Given the description of an element on the screen output the (x, y) to click on. 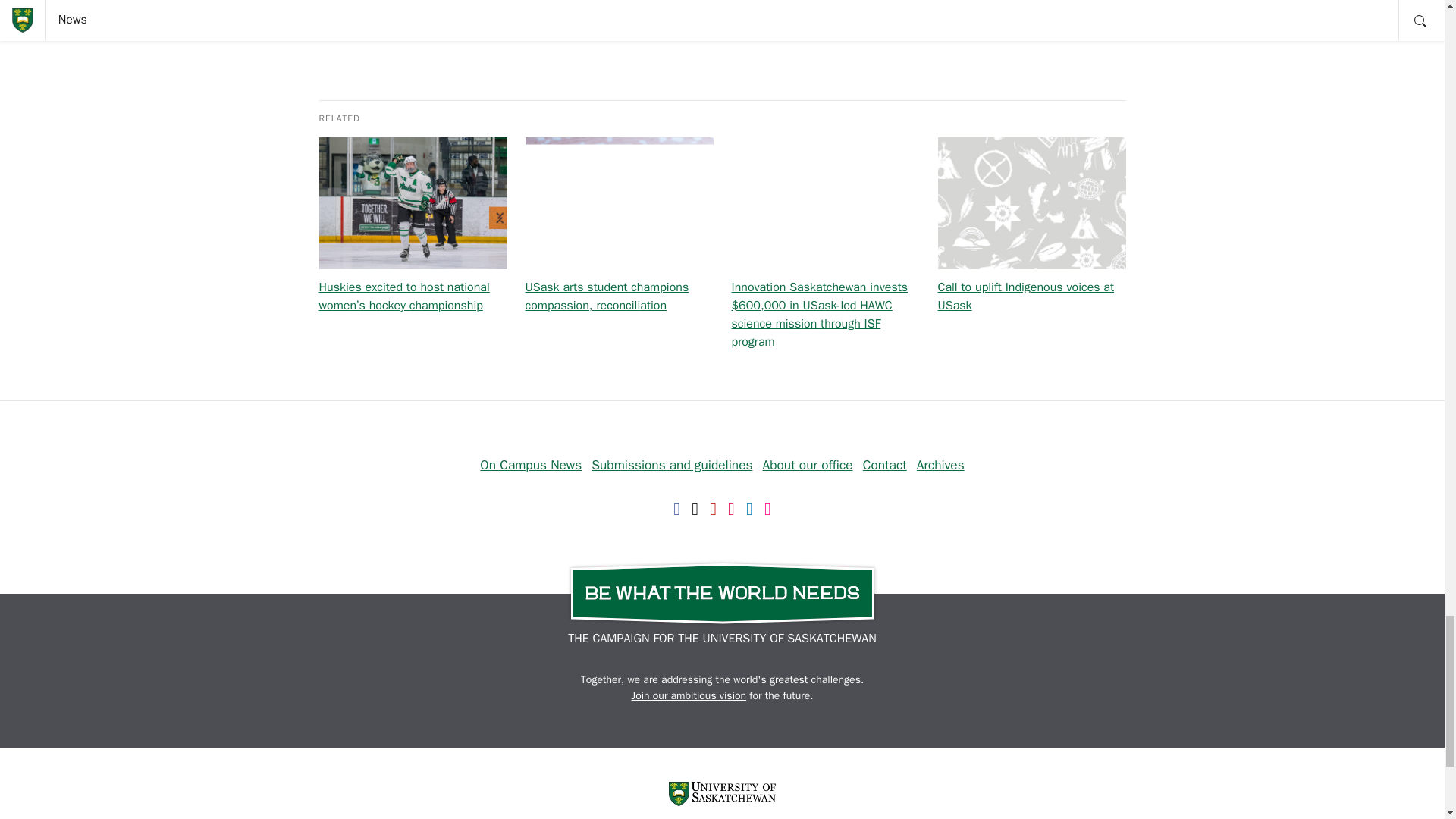
Call to uplift Indigenous voices at USask (1025, 296)
Archives (940, 464)
Submissions and guidelines (671, 464)
USask arts student champions compassion, reconciliation (606, 296)
About our office (807, 464)
supporting current and future students' needs (606, 3)
Contact (885, 464)
Join our ambitious vision (688, 695)
On Campus News (530, 464)
